Given the description of an element on the screen output the (x, y) to click on. 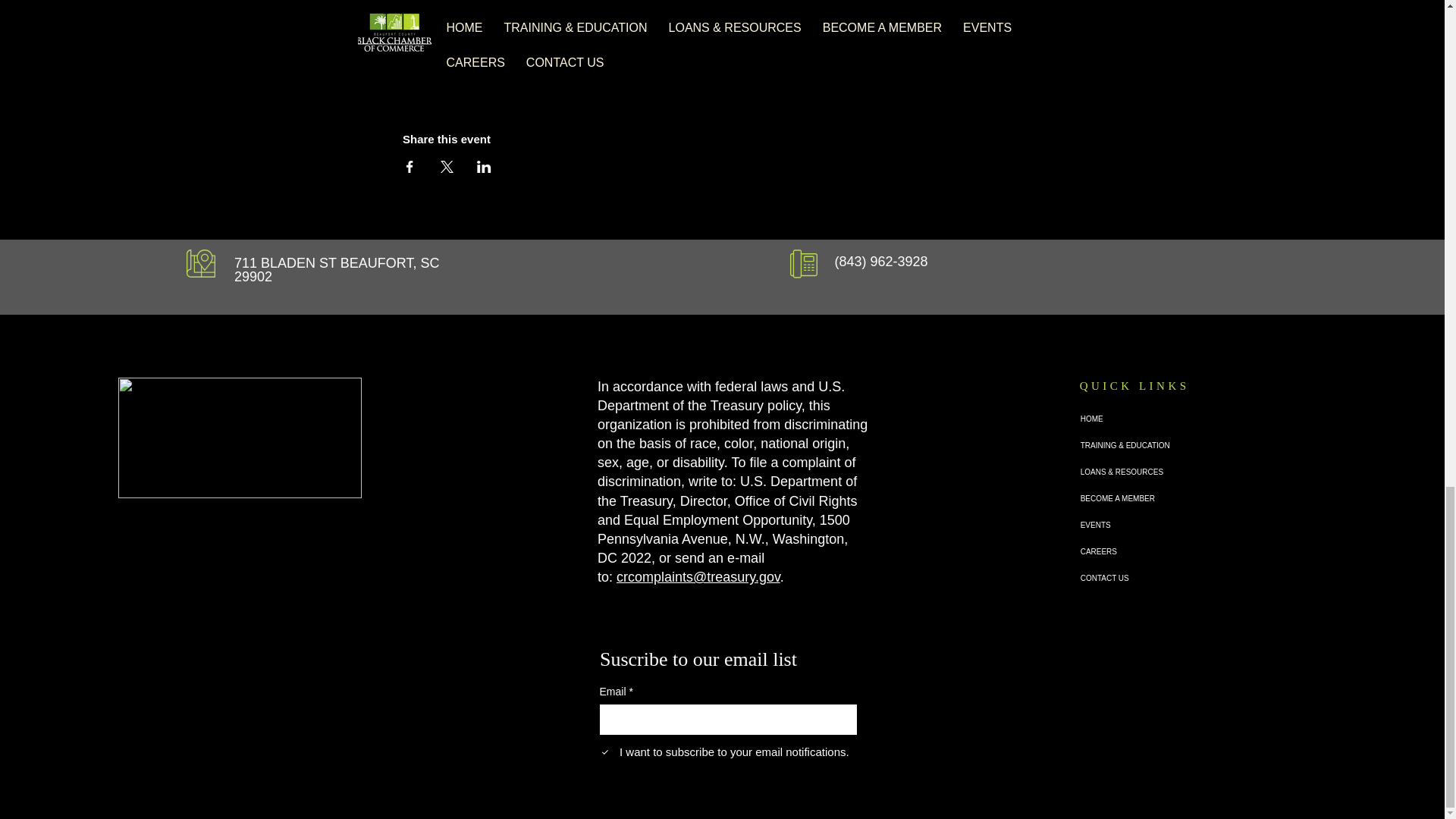
Black Chamber Logo in White Font.png (239, 437)
CAREERS (1134, 551)
Submit (794, 784)
HOME (1134, 418)
Subscribe (928, 719)
BECOME A MEMBER (1134, 498)
CONTACT US (1134, 578)
EVENTS (1134, 524)
